Given the description of an element on the screen output the (x, y) to click on. 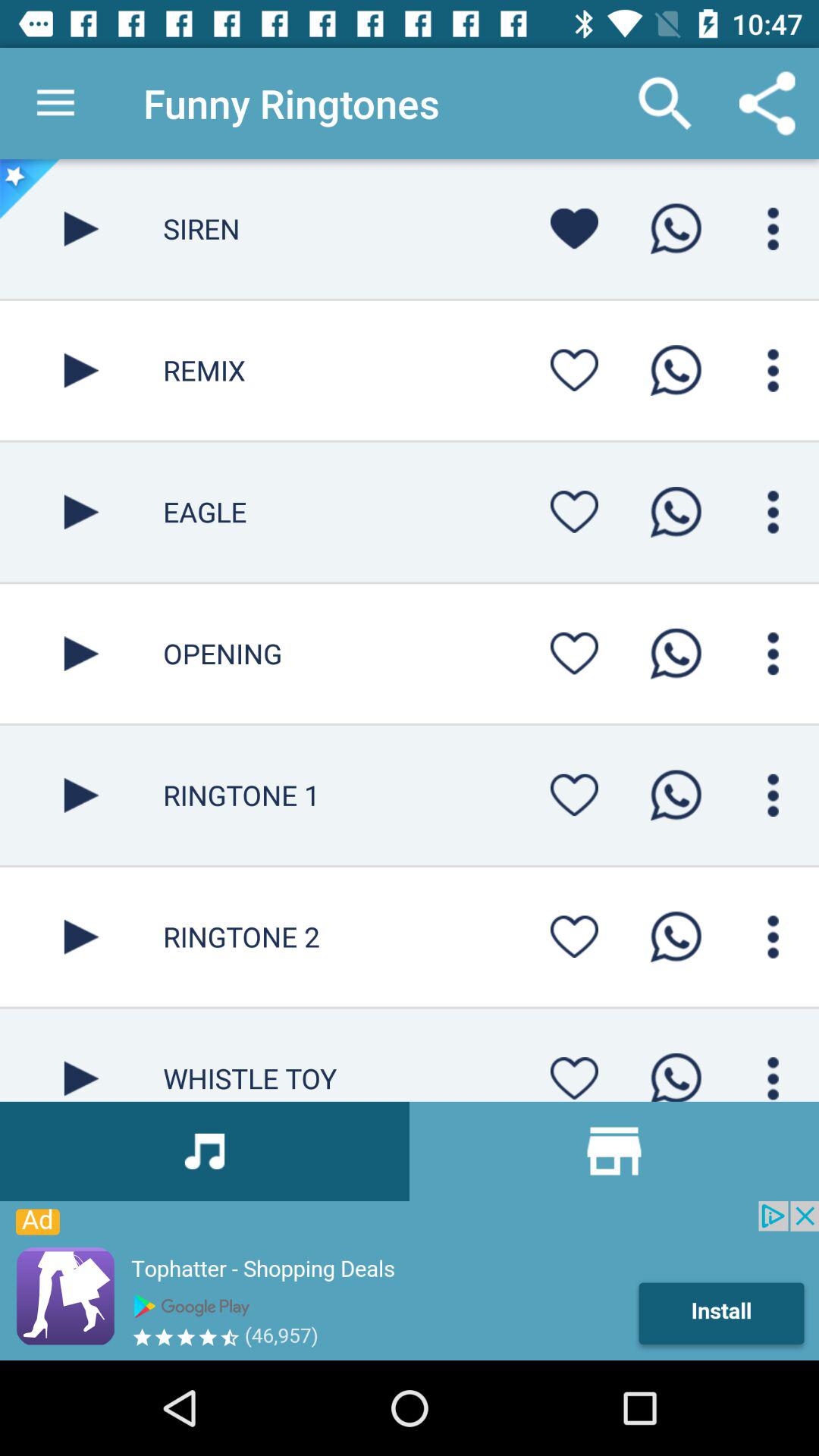
call (675, 794)
